Given the description of an element on the screen output the (x, y) to click on. 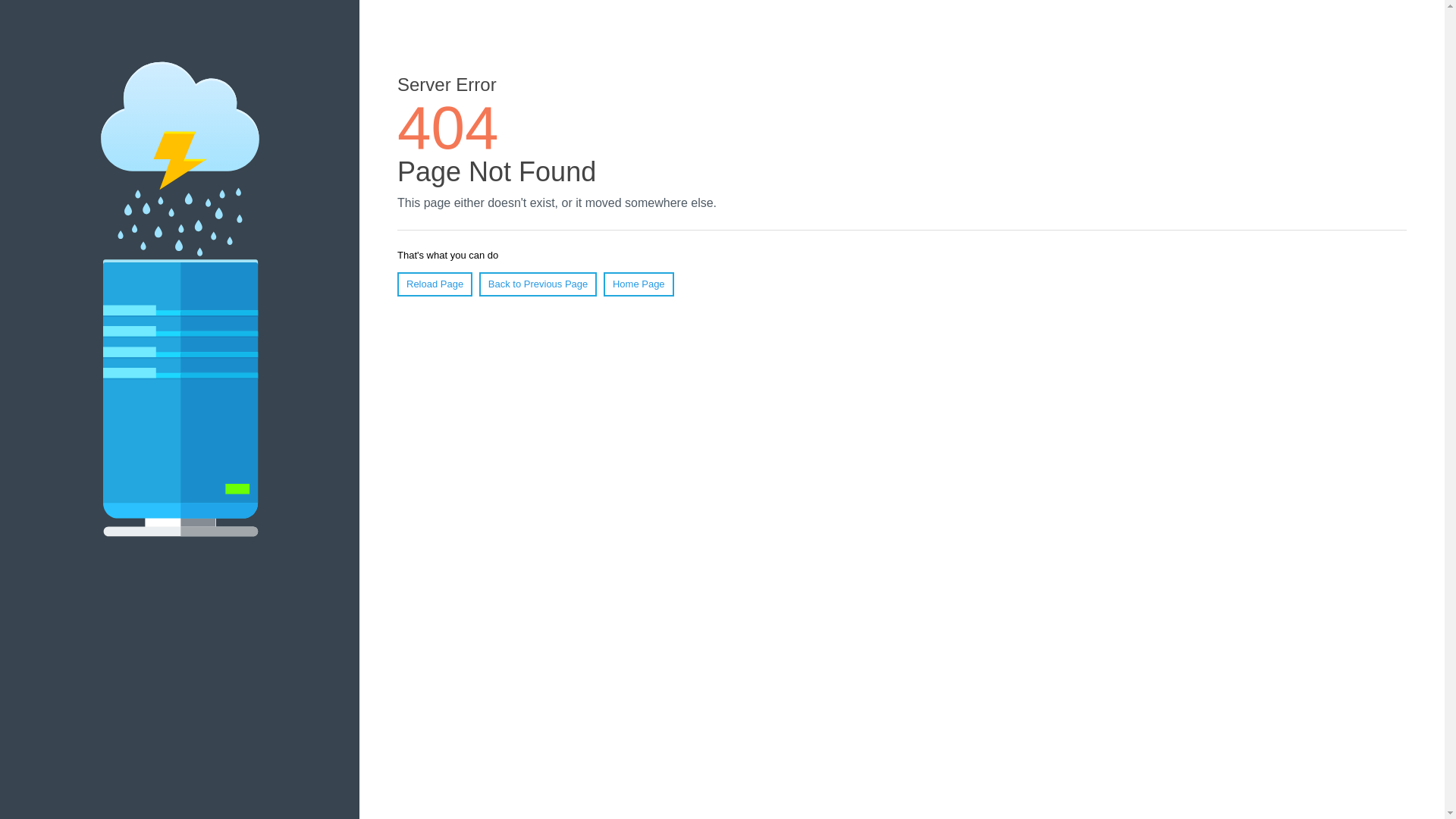
Home Page Element type: text (638, 284)
Back to Previous Page Element type: text (538, 284)
Reload Page Element type: text (434, 284)
